Given the description of an element on the screen output the (x, y) to click on. 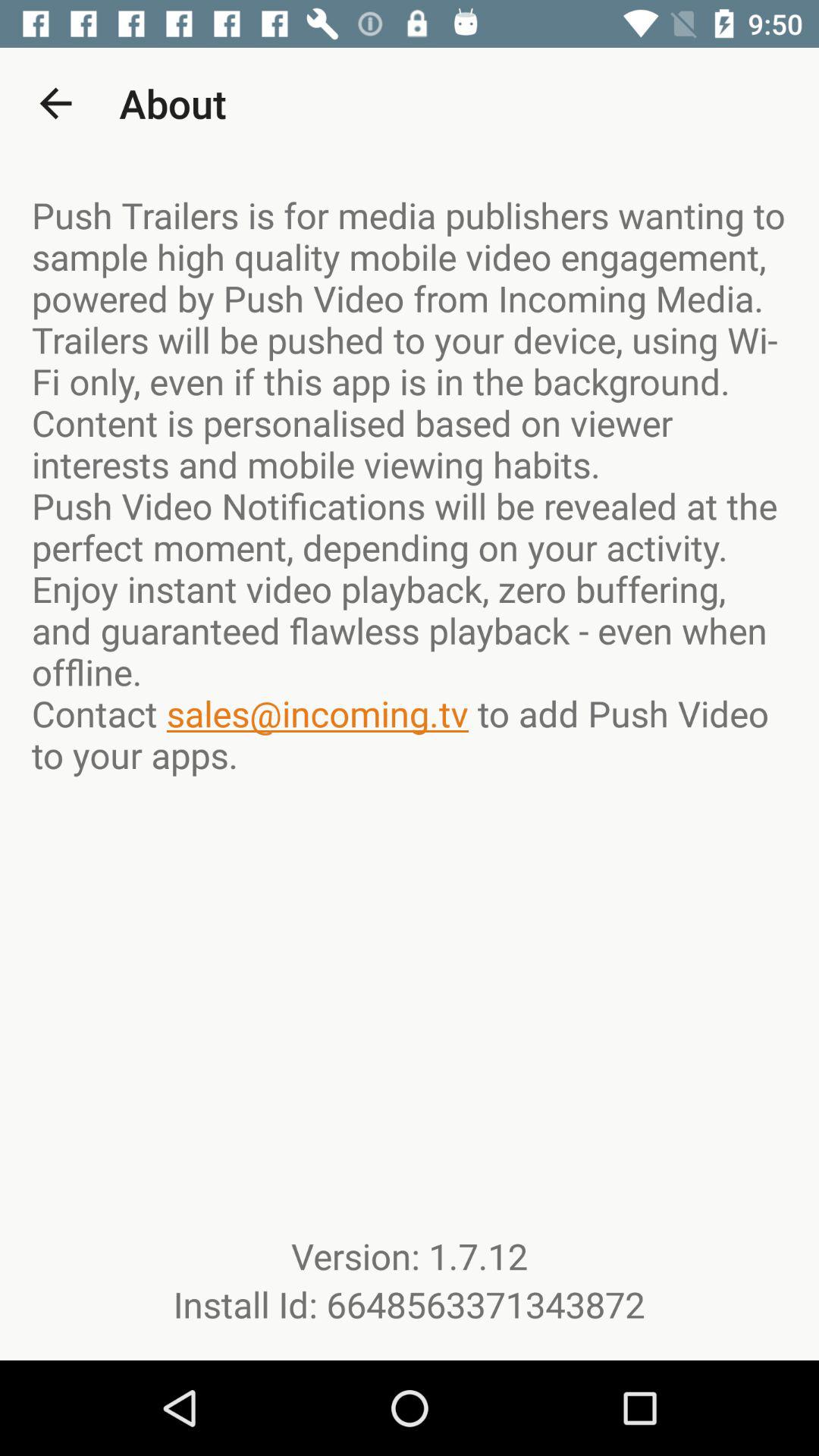
scroll to push trailers is (409, 485)
